Given the description of an element on the screen output the (x, y) to click on. 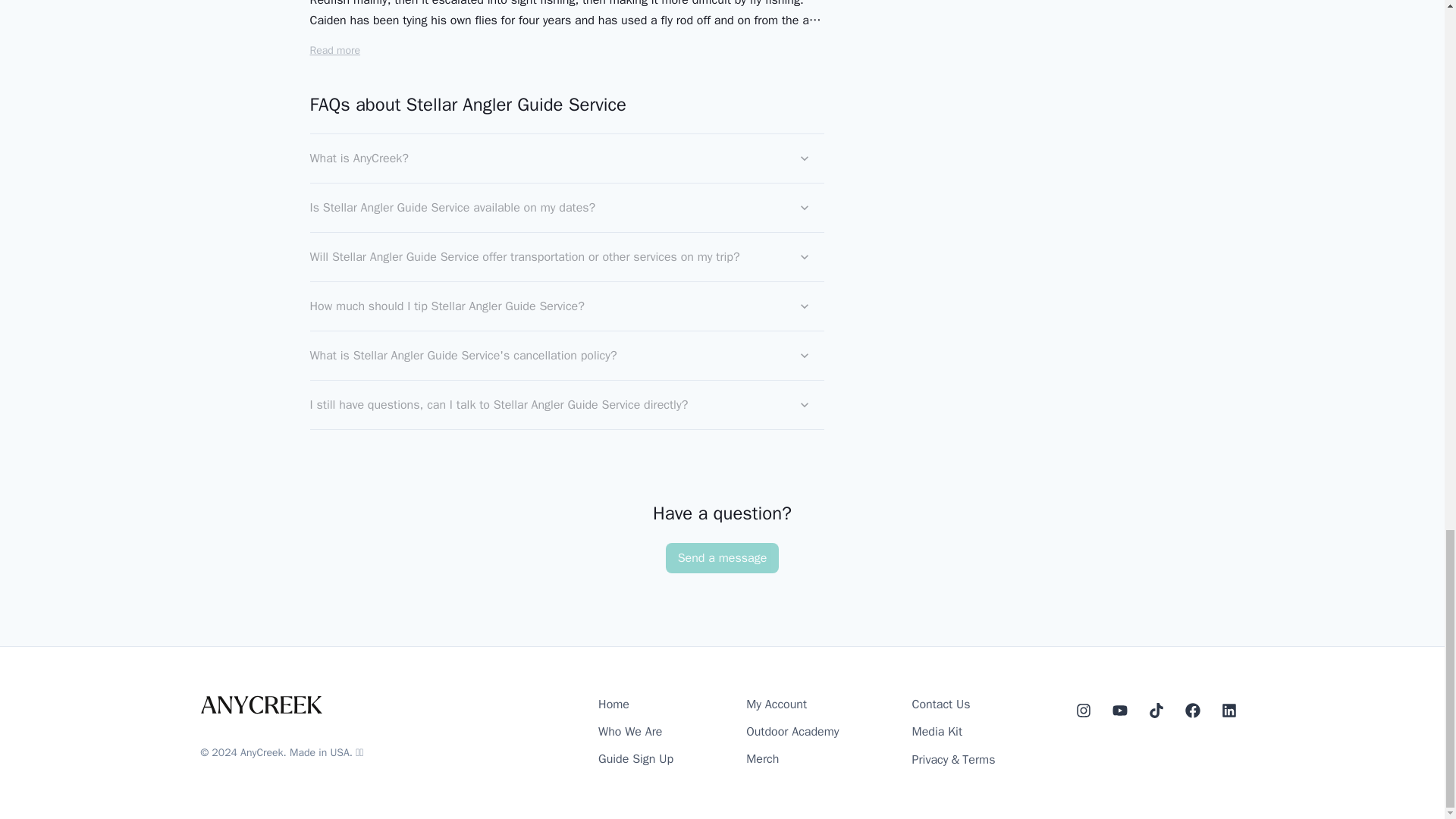
How much should I tip Stellar Angler Guide Service? (566, 306)
What is AnyCreek? (566, 158)
Is Stellar Angler Guide Service available on my dates? (566, 207)
What is Stellar Angler Guide Service's cancellation policy? (566, 355)
Read more (333, 50)
